Given the description of an element on the screen output the (x, y) to click on. 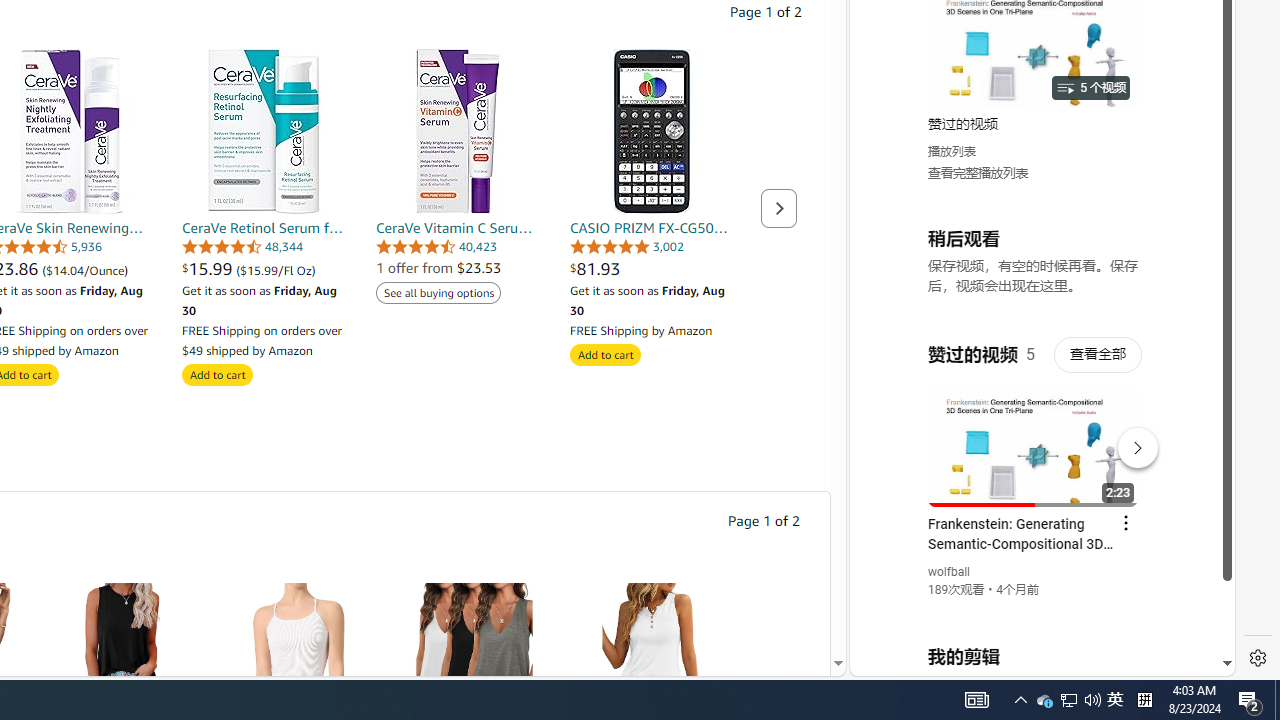
US[ju] (917, 660)
Next page (779, 208)
YouTube - YouTube (1034, 266)
CASIO PRIZM FX-CG50 Color Graphing Calculator (651, 130)
wolfball (949, 572)
